Given the description of an element on the screen output the (x, y) to click on. 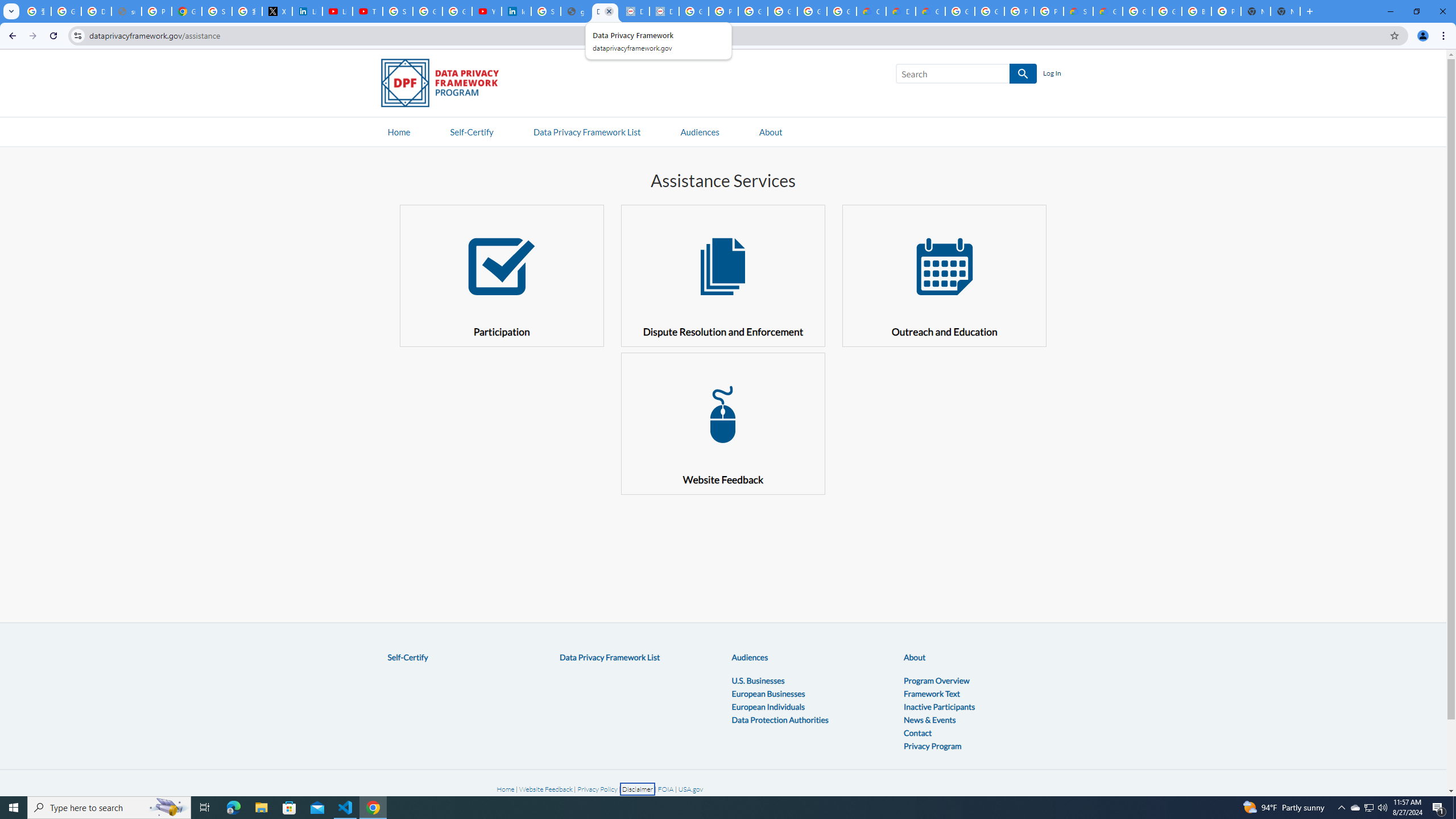
Data Privacy Framework (634, 11)
Sign in - Google Accounts (397, 11)
Google Workspace - Specific Terms (841, 11)
Inactive Participants (939, 706)
USA.gov (690, 788)
Search SEARCH (965, 75)
Google Workspace - Specific Terms (811, 11)
